Given the description of an element on the screen output the (x, y) to click on. 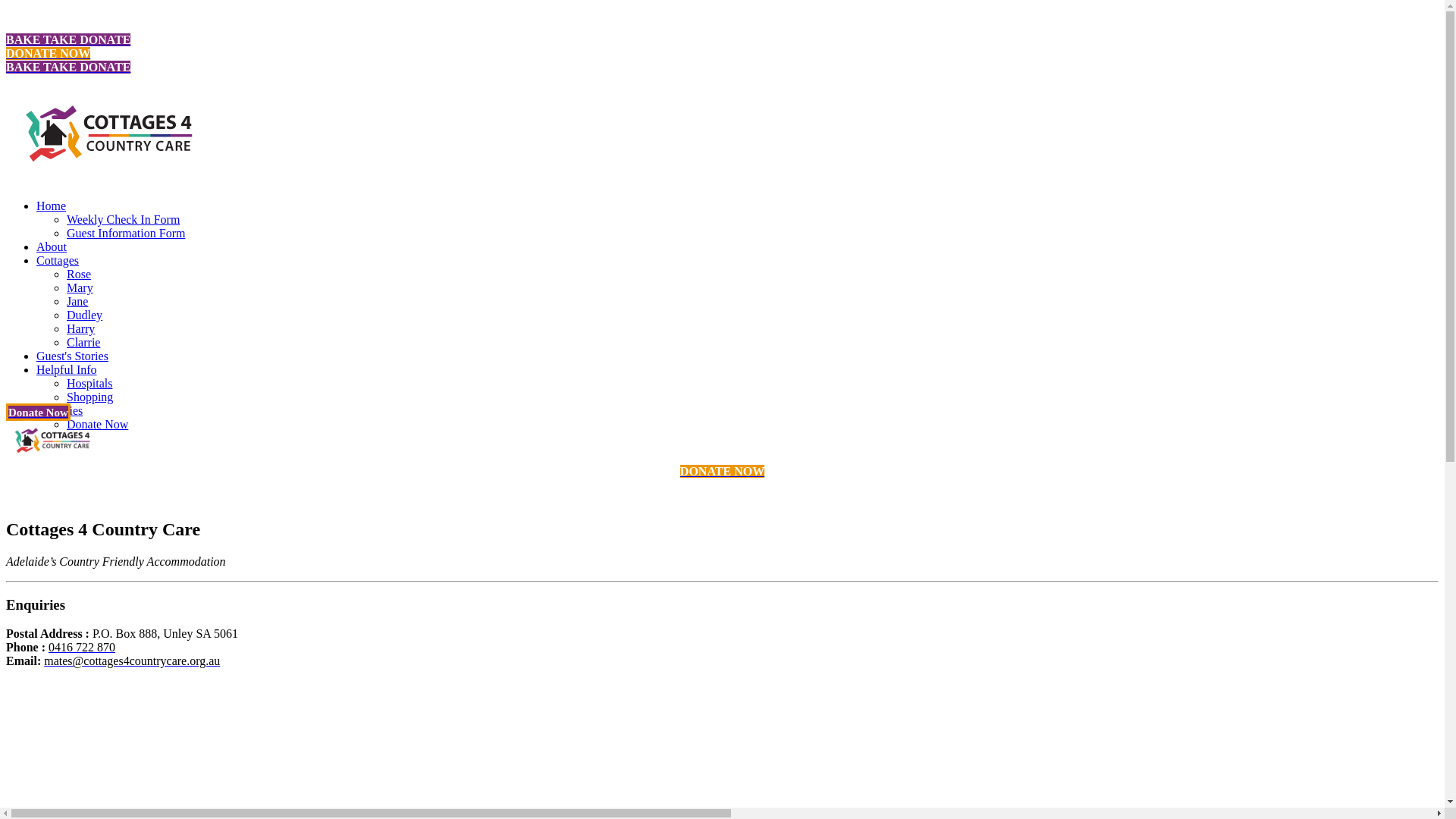
Guest Information Form Element type: text (125, 232)
Home Element type: text (21, 699)
BAKE TAKE DONATE Element type: text (68, 66)
Donate Now Element type: text (38, 411)
Cottages Element type: text (57, 260)
Rose Element type: text (78, 273)
Mary Element type: text (79, 287)
Enquiries Element type: text (59, 410)
0416 722 870 Element type: text (81, 646)
Donate Now Element type: text (97, 423)
DONATE NOW Element type: text (722, 470)
Accommodation Check-in Form Element type: text (84, 766)
Guest Information Form Element type: text (65, 780)
Shopping Element type: text (89, 396)
Enquiries Element type: text (29, 752)
Guest's Stories Element type: text (72, 355)
About Element type: text (51, 246)
Jane Element type: text (76, 300)
Hospitals Element type: text (89, 382)
Helpful Info Element type: text (66, 369)
Our Story Element type: text (30, 725)
Dudley Element type: text (84, 314)
Guests Stories Element type: text (40, 739)
BAKE TAKE DONATE Element type: text (68, 39)
Clarrie Element type: text (83, 341)
Harry Element type: text (80, 328)
Home Element type: text (50, 205)
Weekly Check In Form Element type: text (122, 219)
DONATE NOW Element type: text (48, 53)
mates@cottages4countrycare.org.au Element type: text (131, 660)
